Given the description of an element on the screen output the (x, y) to click on. 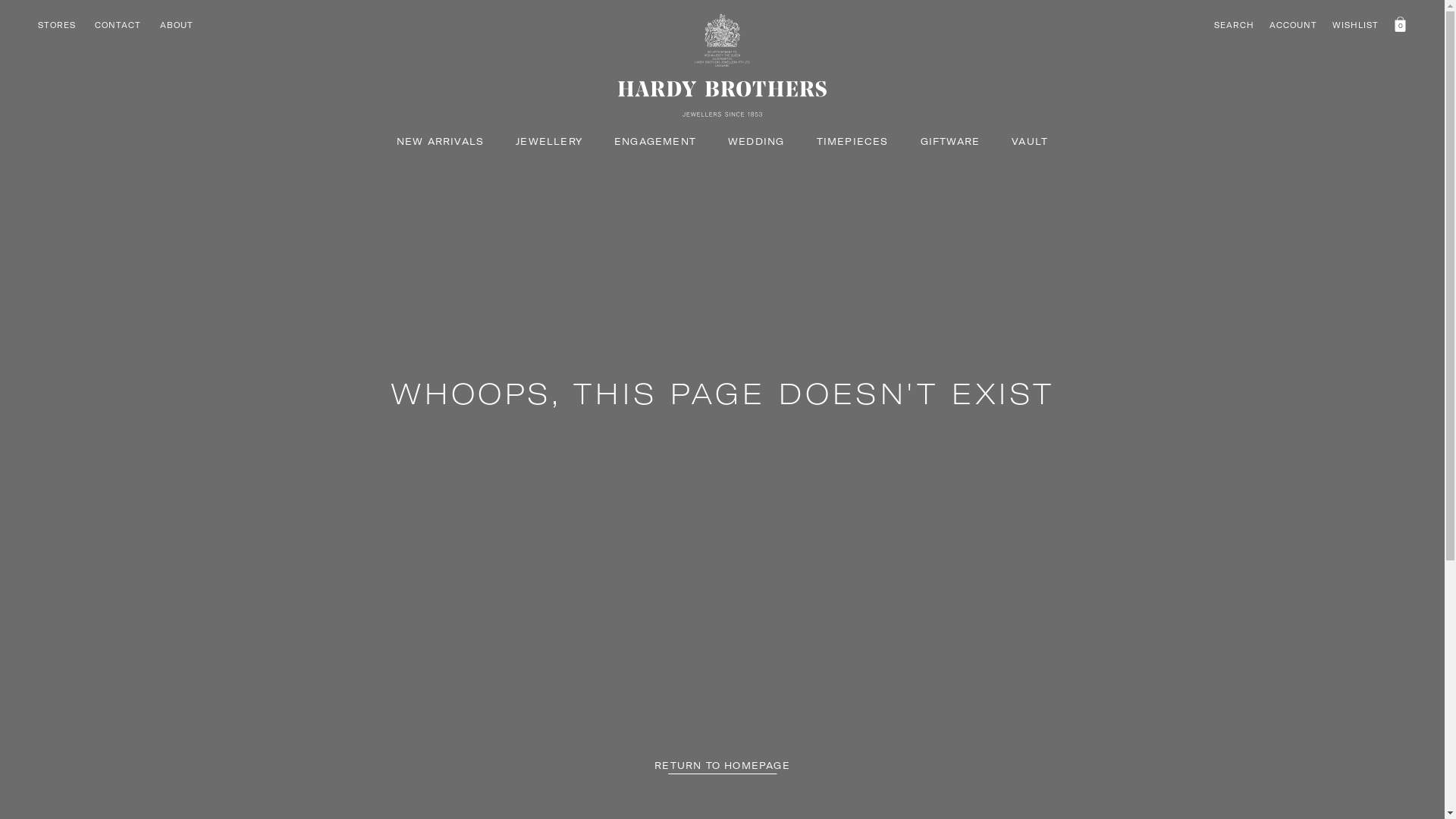
GIFTWARE
GIFTWARE Element type: text (950, 141)
WISHLIST Element type: text (1355, 25)
CONTACT Element type: text (117, 25)
JEWELLERY
JEWELLERY Element type: text (548, 141)
ACCOUNT Element type: text (1293, 25)
ENGAGEMENT
ENGAGEMENT Element type: text (655, 141)
SEARCH Element type: text (1234, 25)
WEDDING
WEDDING Element type: text (756, 141)
ABOUT Element type: text (176, 25)
TIMEPIECES
TIMEPIECES Element type: text (851, 141)
VAULT
VAULT Element type: text (1029, 141)
STORES Element type: text (56, 25)
RETURN TO HOMEPAGE Element type: text (722, 765)
0 Element type: text (1399, 24)
NEW ARRIVALS
NEW ARRIVALS Element type: text (439, 141)
